Given the description of an element on the screen output the (x, y) to click on. 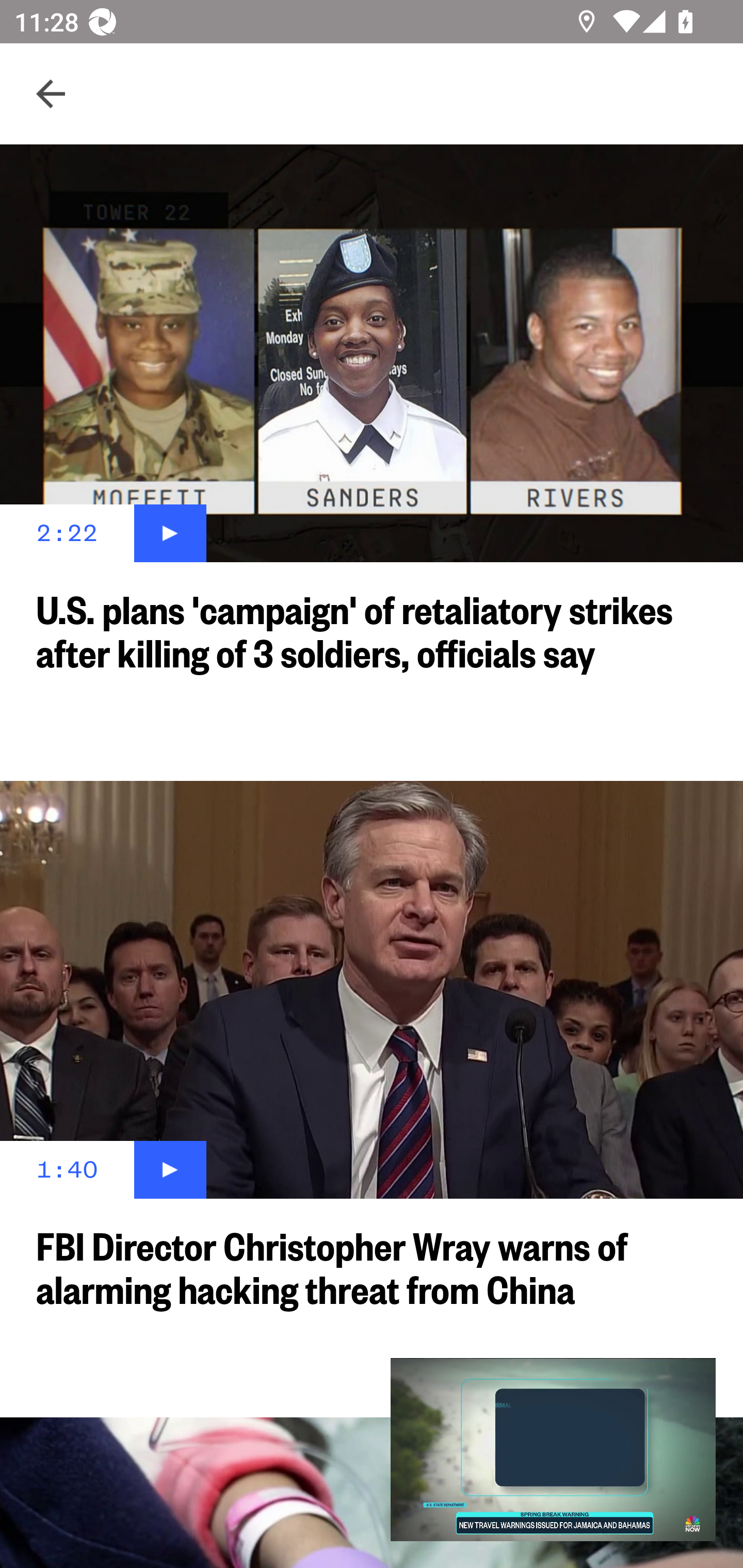
Navigate up (50, 93)
